Given the description of an element on the screen output the (x, y) to click on. 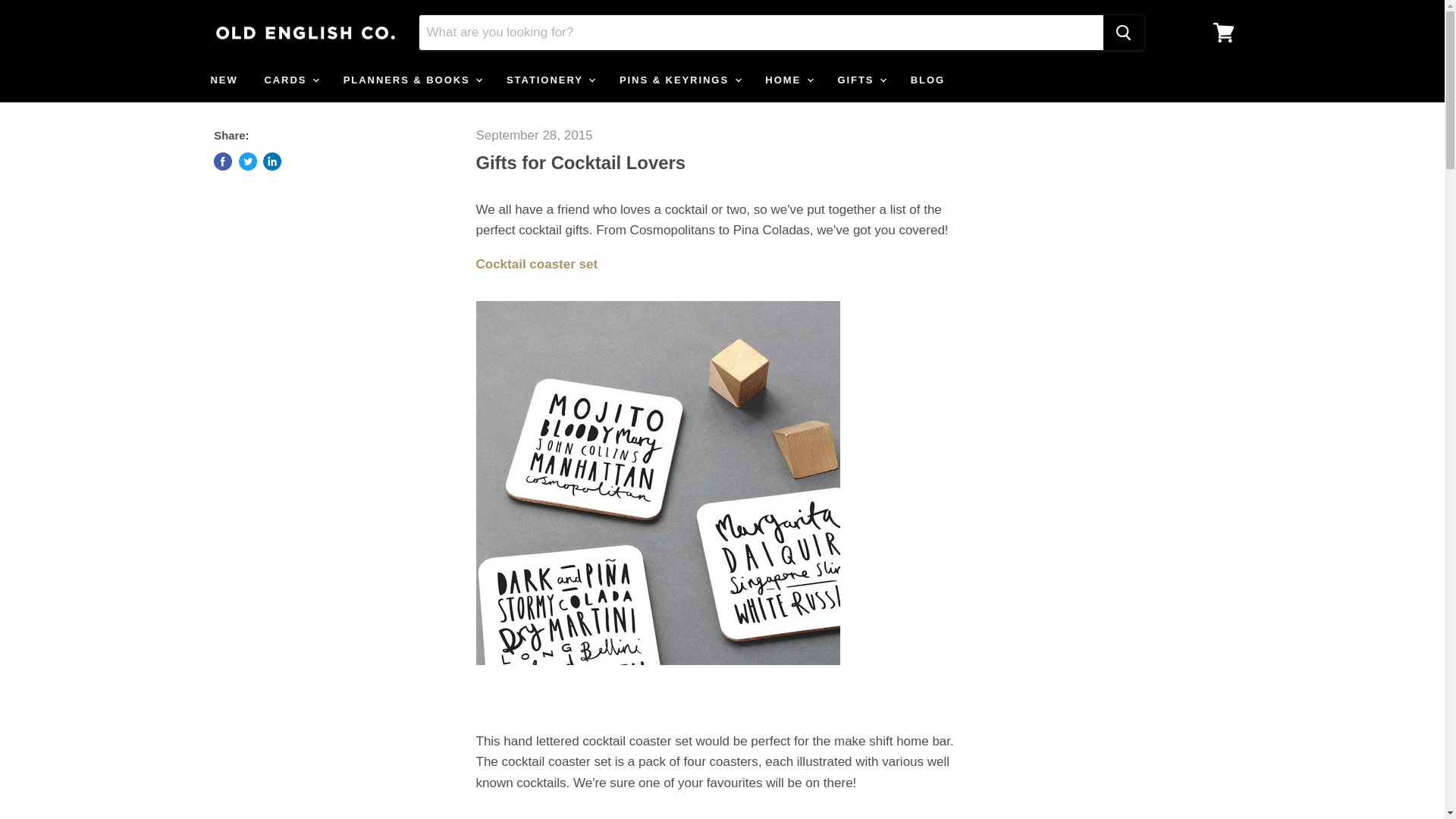
NEW (223, 79)
STATIONERY (549, 79)
CARDS (290, 79)
View cart (1223, 32)
cocktail coasters (658, 673)
